Given the description of an element on the screen output the (x, y) to click on. 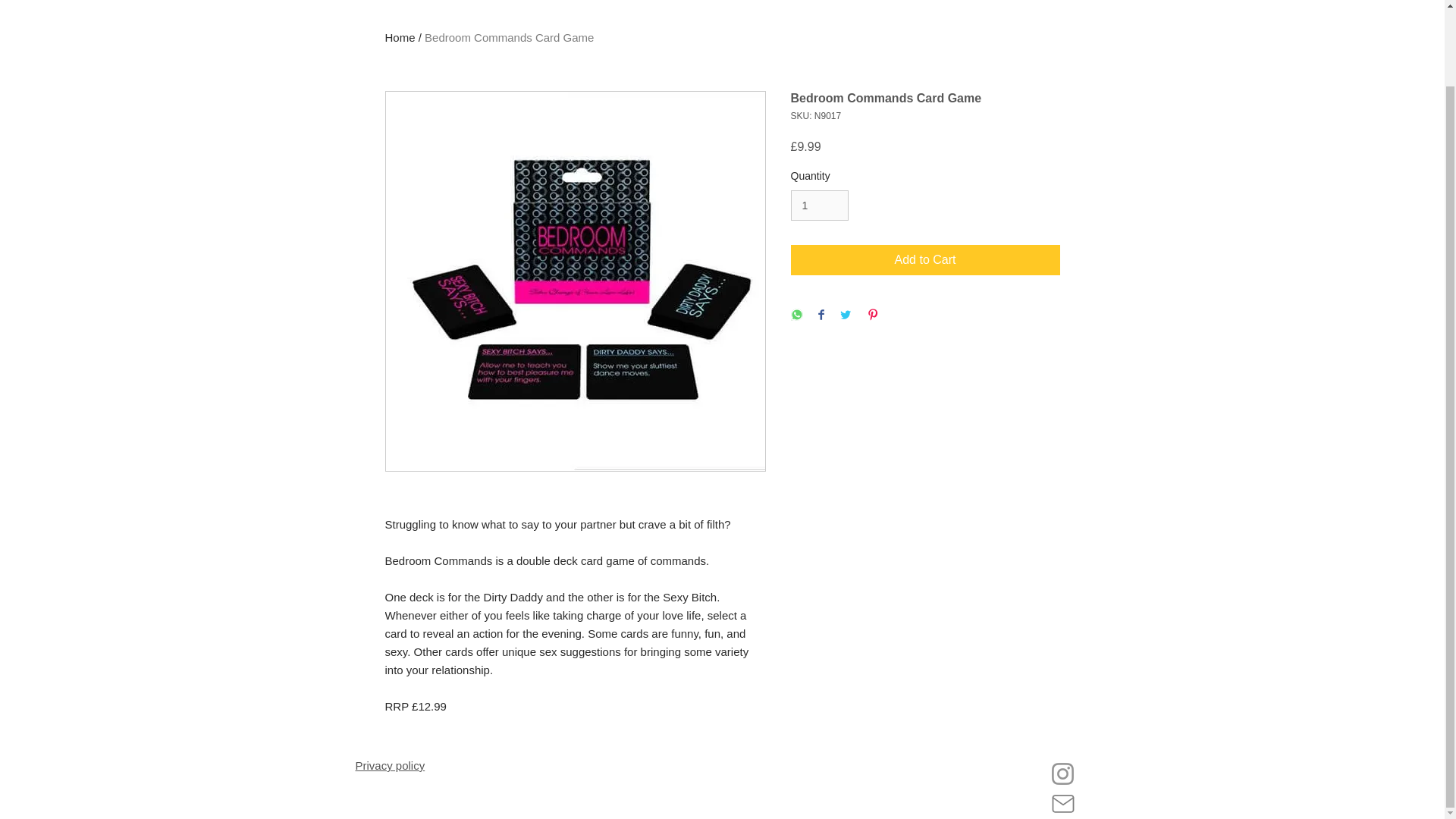
Privacy policy (390, 765)
Bedroom Commands Card Game (509, 37)
Add to Cart (924, 259)
Home (399, 37)
1 (818, 205)
